Given the description of an element on the screen output the (x, y) to click on. 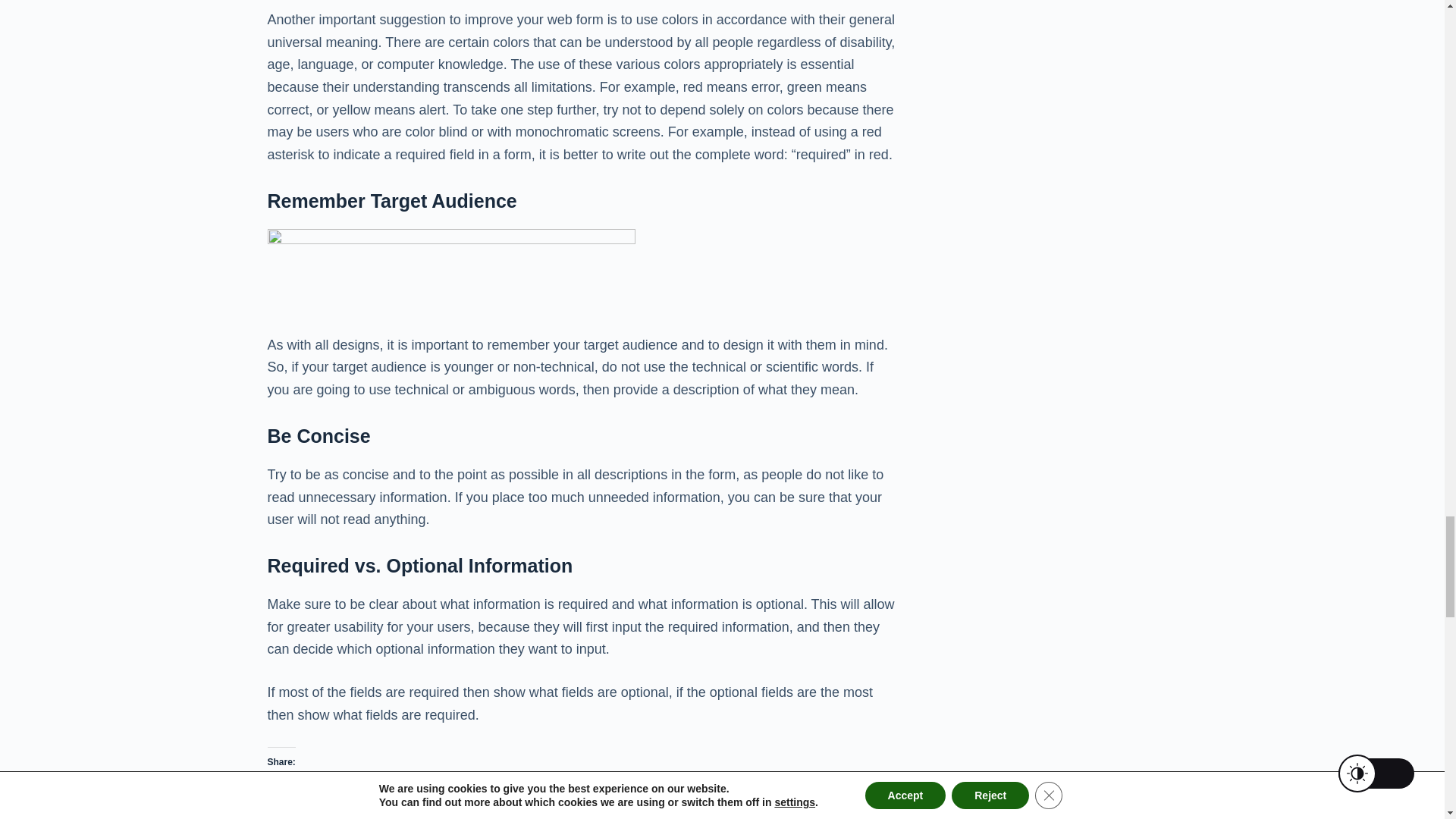
WhatsApp (750, 788)
LinkedIn (591, 788)
Pocket (450, 788)
Facebook (304, 788)
Pinterest (667, 788)
Twitter (381, 788)
Reddit (518, 788)
